Given the description of an element on the screen output the (x, y) to click on. 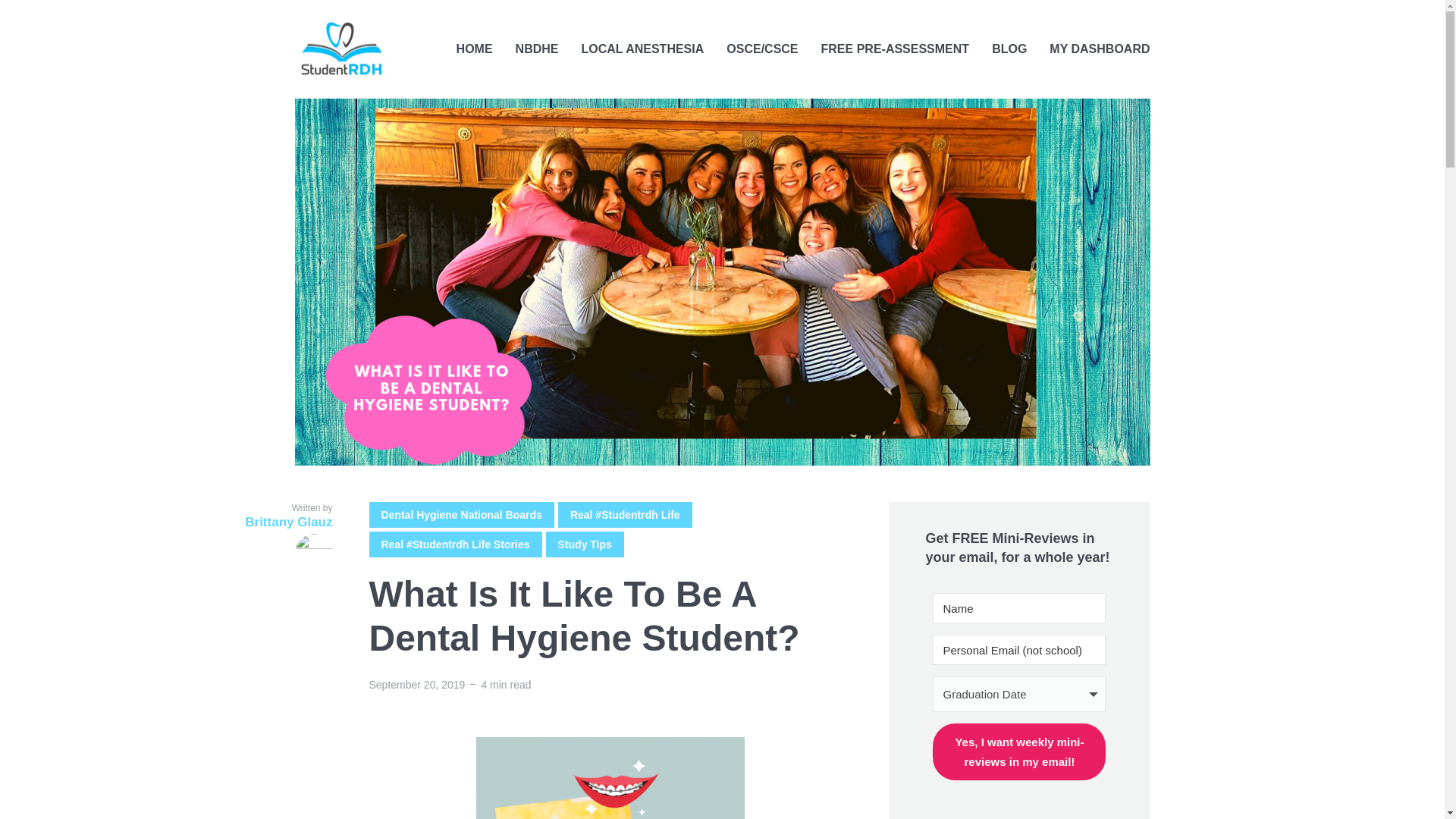
BLOG (1008, 48)
Dental Hygiene National Boards (460, 514)
FREE PRE-ASSESSMENT (895, 48)
HOME (475, 48)
LOCAL ANESTHESIA (641, 48)
Yes, I want weekly mini-reviews in my email! (1019, 751)
Brittany Glauz (275, 543)
NBDHE (537, 48)
Study Tips (585, 544)
MY DASHBOARD (1099, 48)
